Given the description of an element on the screen output the (x, y) to click on. 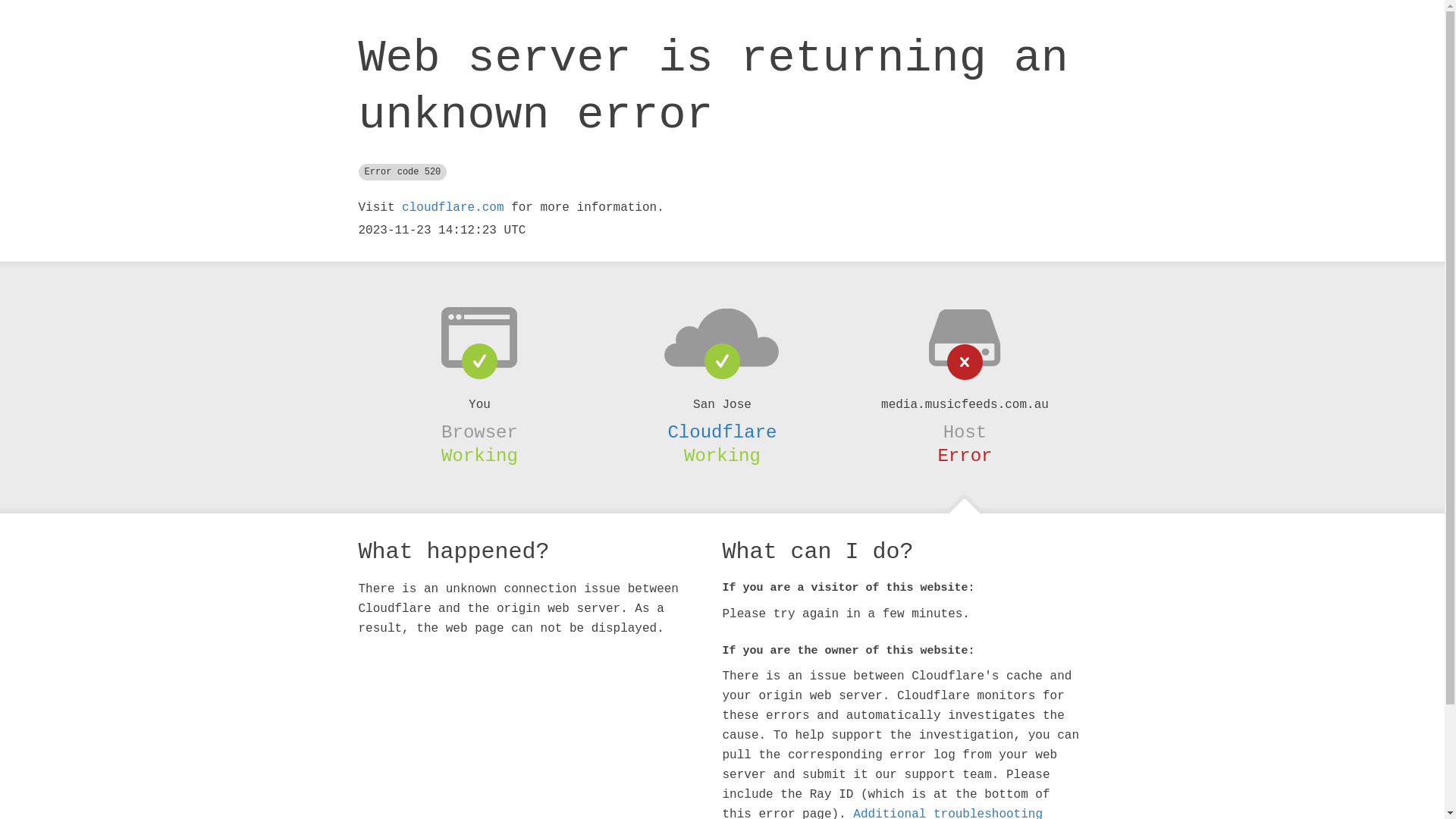
cloudflare.com Element type: text (452, 207)
Cloudflare Element type: text (721, 432)
